Given the description of an element on the screen output the (x, y) to click on. 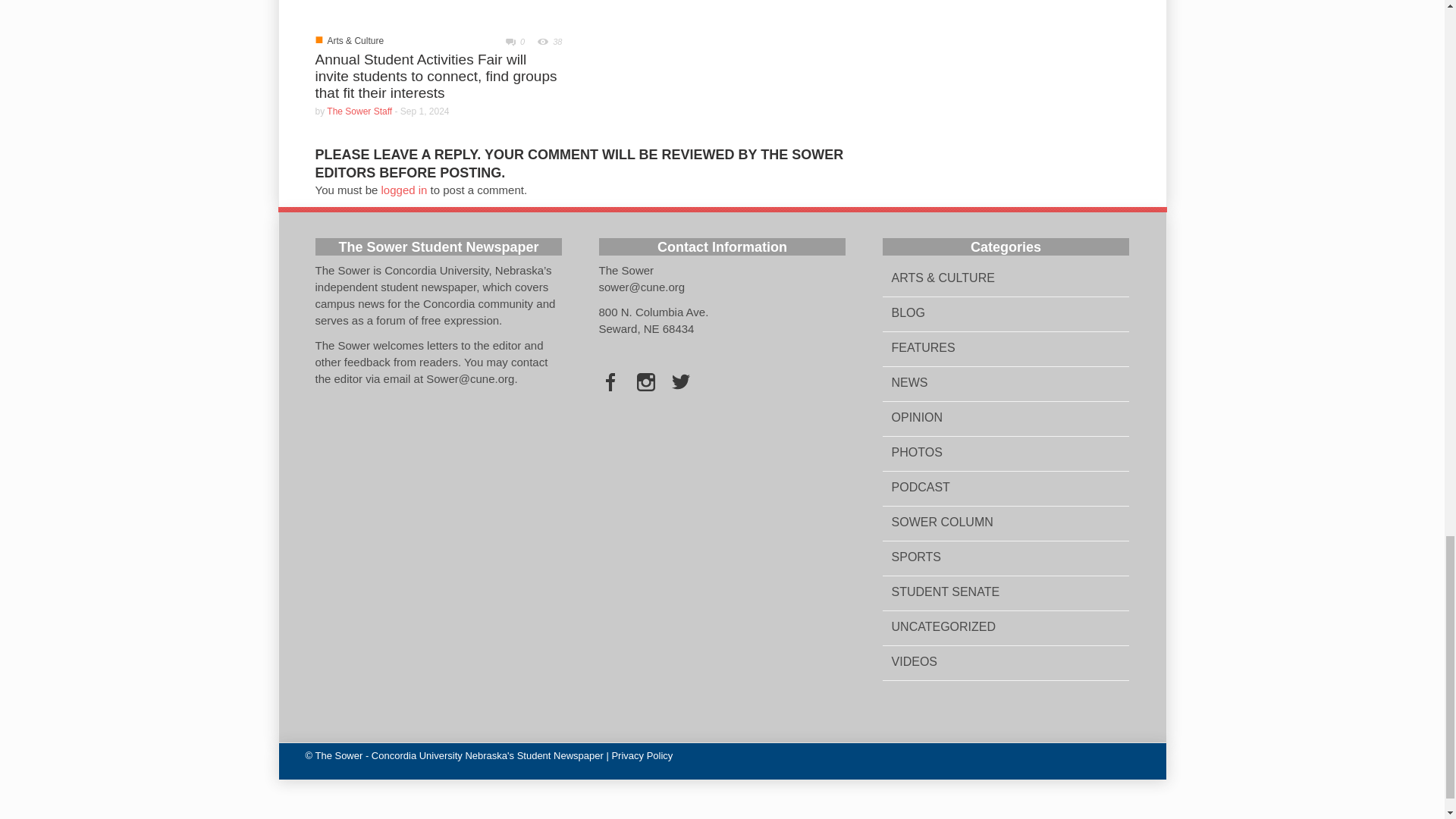
0 (509, 40)
The Sower Staff (358, 111)
